Given the description of an element on the screen output the (x, y) to click on. 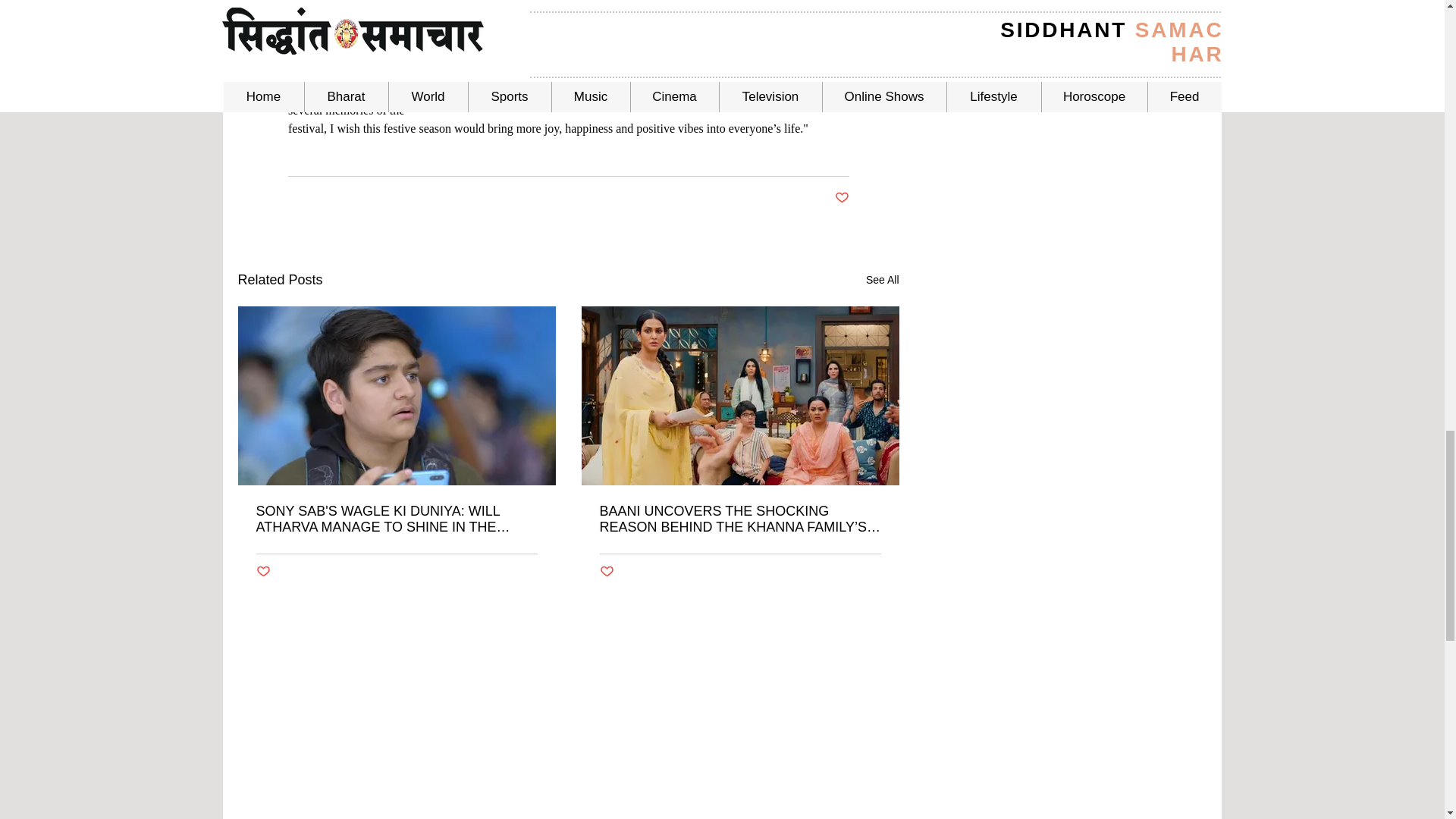
Post not marked as liked (263, 571)
See All (882, 280)
Post not marked as liked (841, 198)
Post not marked as liked (605, 571)
